Given the description of an element on the screen output the (x, y) to click on. 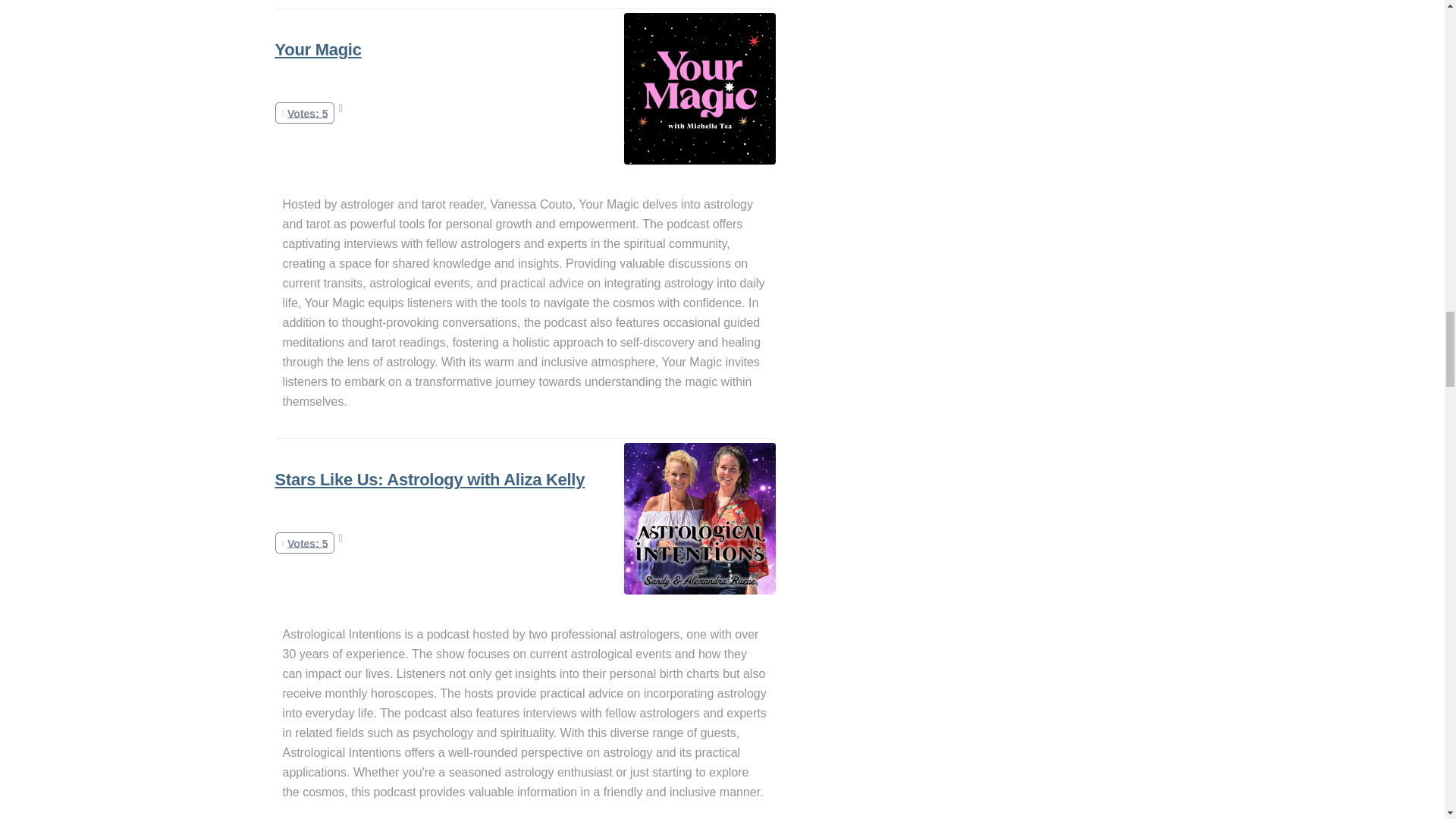
Your Magic (318, 49)
Votes: 5 (305, 112)
Votes: 5 (305, 542)
Stars Like Us: Astrology with Aliza Kelly (430, 479)
